Given the description of an element on the screen output the (x, y) to click on. 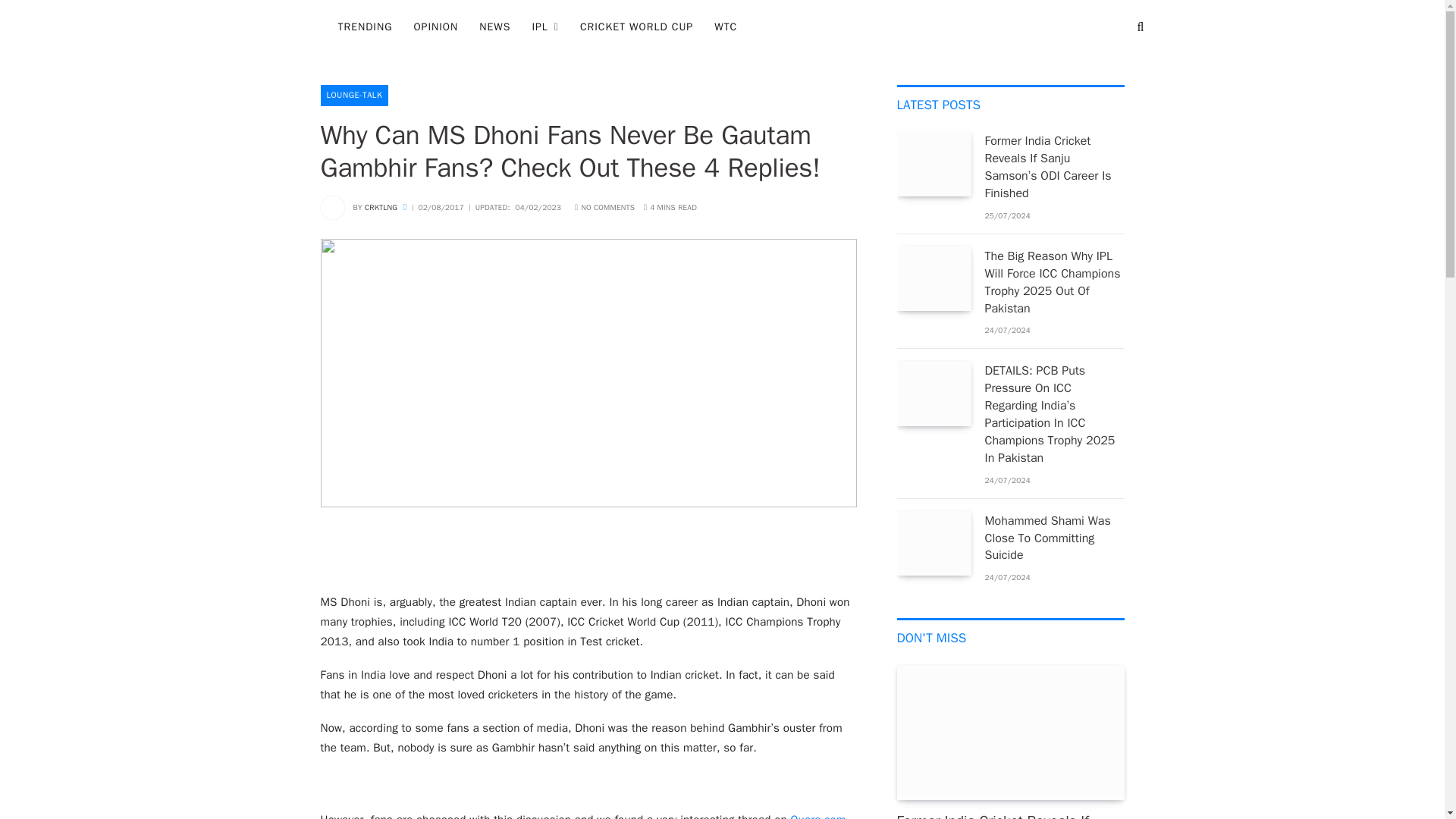
Posts by crktlng (381, 207)
NO COMMENTS (604, 207)
CRKTLNG (381, 207)
LOUNGE-TALK (354, 95)
Quora.com. (819, 815)
IPL (545, 27)
OPINION (435, 27)
NEWS (494, 27)
CRICKET WORLD CUP (636, 27)
TRENDING (365, 27)
